Given the description of an element on the screen output the (x, y) to click on. 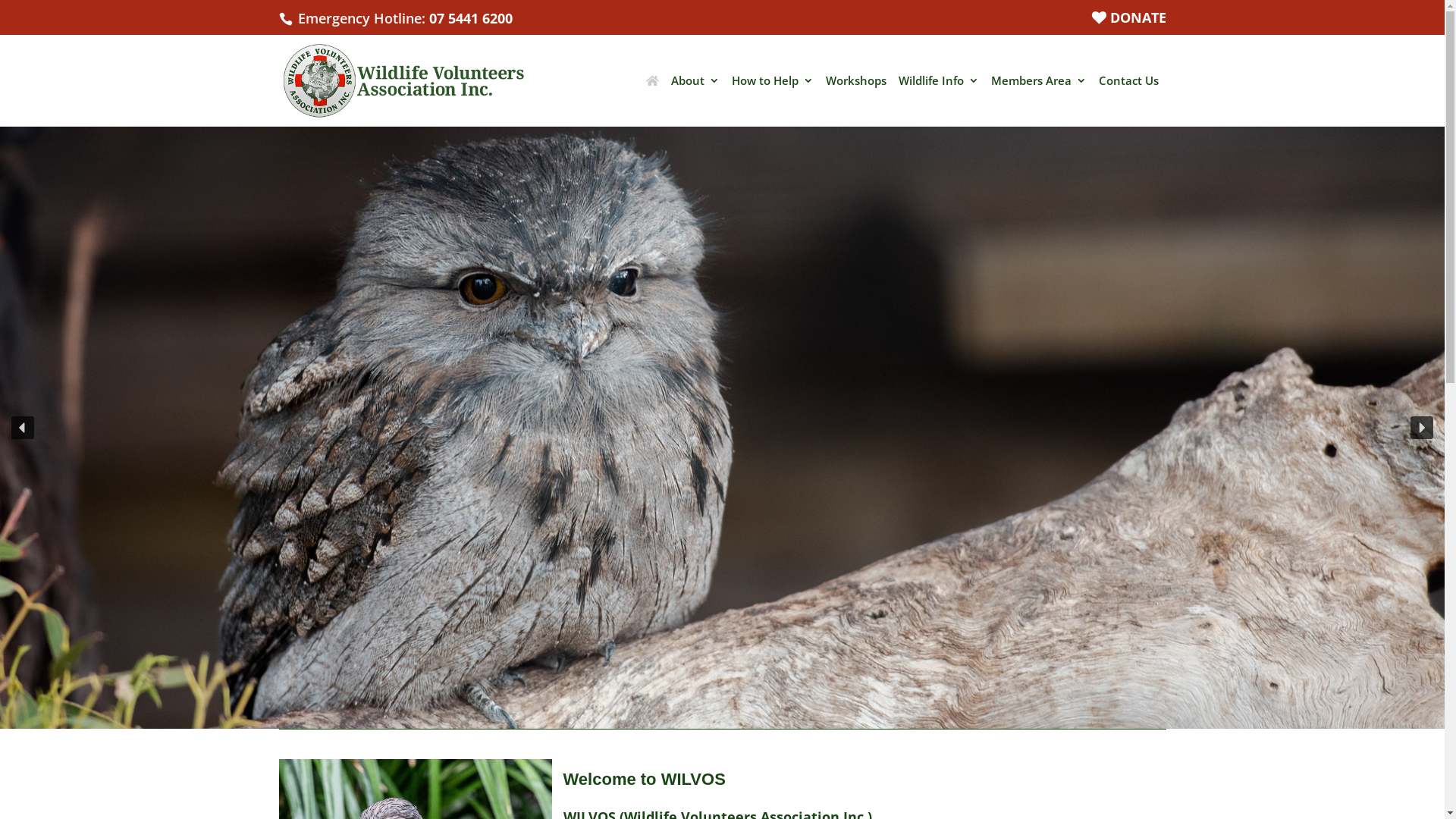
Members Area Element type: text (1037, 96)
07 5441 6200 Element type: text (470, 18)
DONATE Element type: text (1127, 22)
Workshops Element type: text (855, 96)
Contact Us Element type: text (1127, 96)
About Element type: text (694, 96)
Wildlife Info Element type: text (937, 96)
How to Help Element type: text (771, 96)
